Given the description of an element on the screen output the (x, y) to click on. 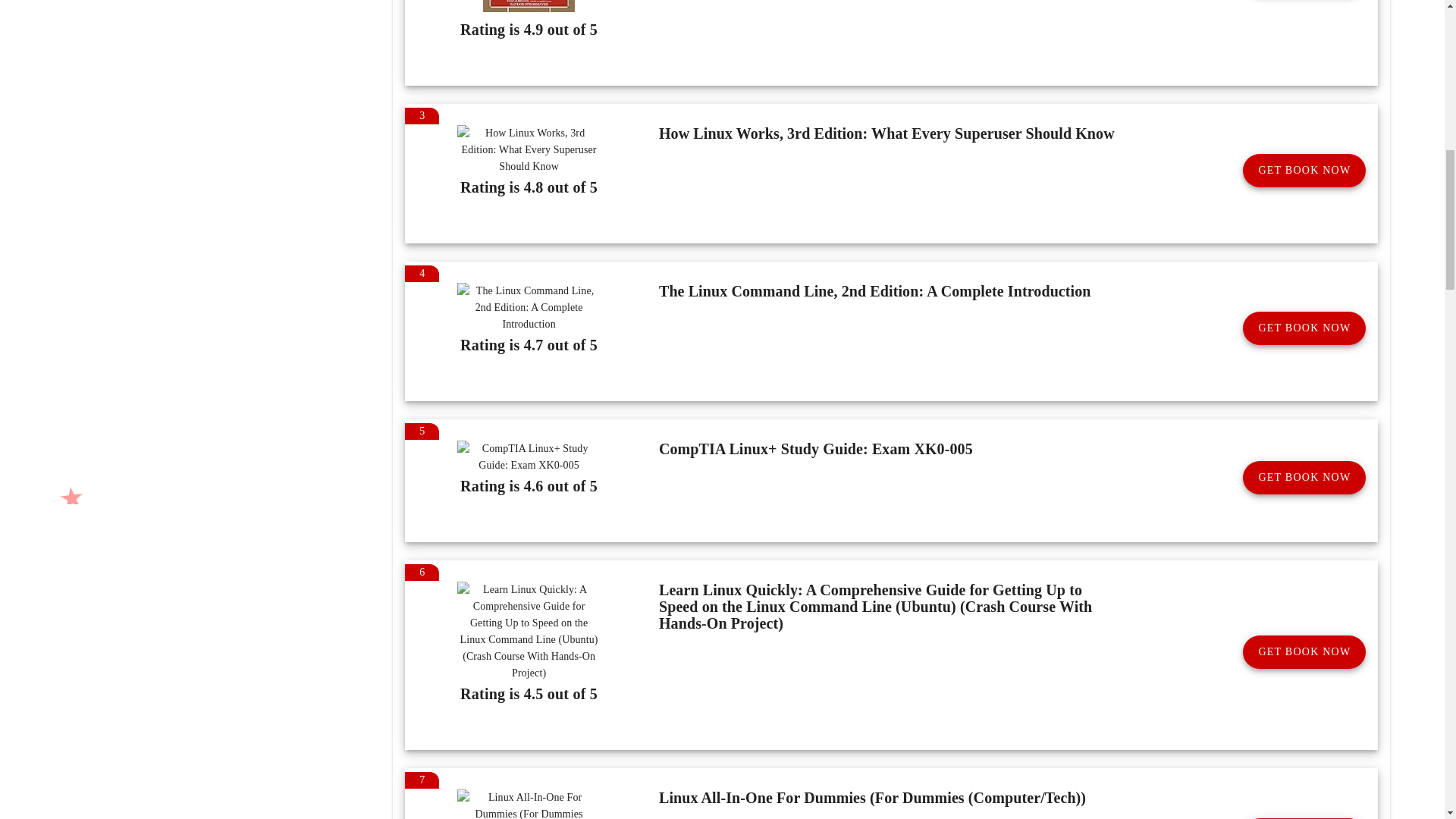
GET BOOK NOW (1304, 652)
GET BOOK NOW (1304, 328)
GET BOOK NOW (1304, 477)
GET BOOK NOW (1304, 170)
